Given the description of an element on the screen output the (x, y) to click on. 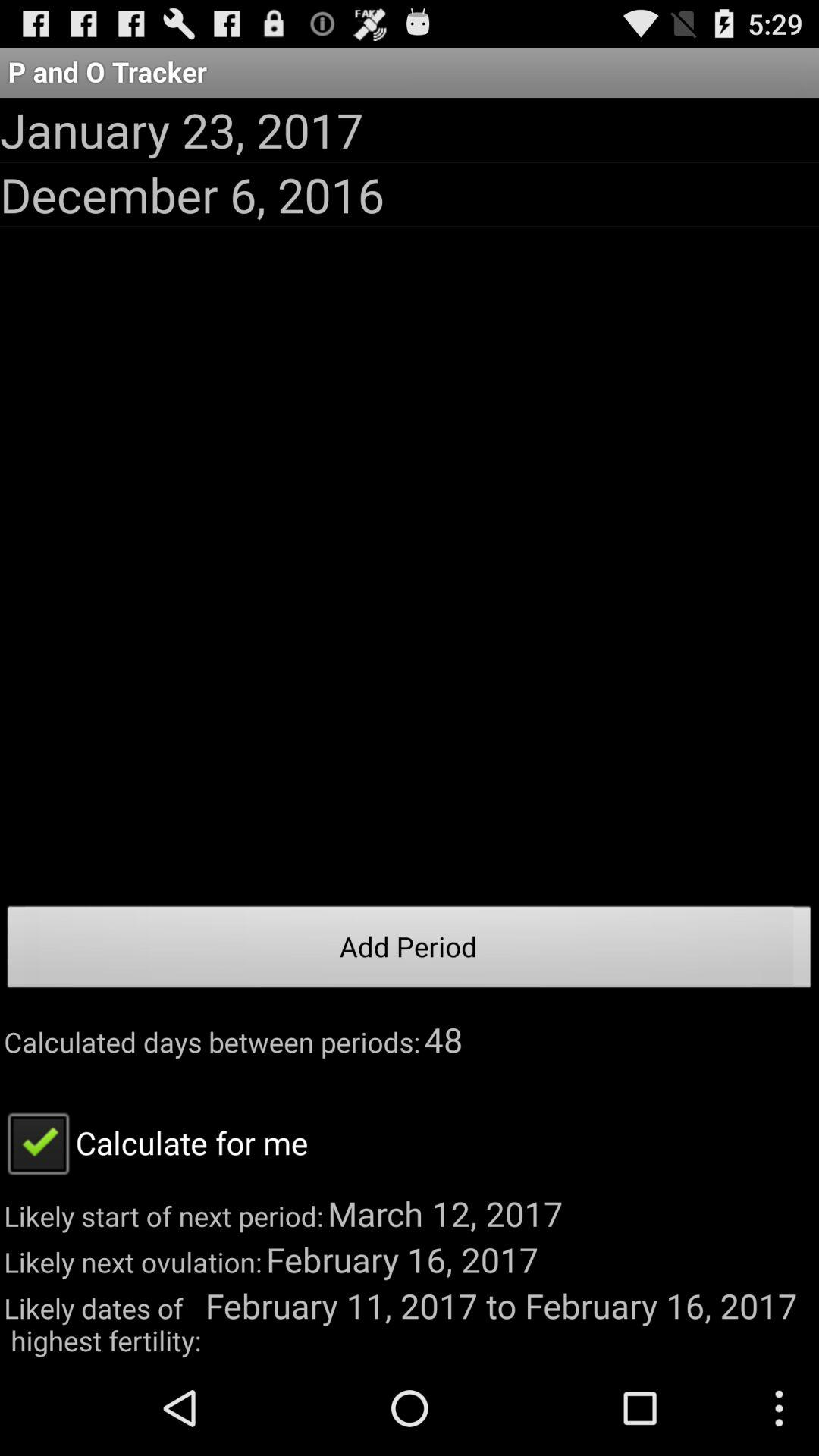
open the item next to the march 12, 2017 icon (154, 1142)
